Given the description of an element on the screen output the (x, y) to click on. 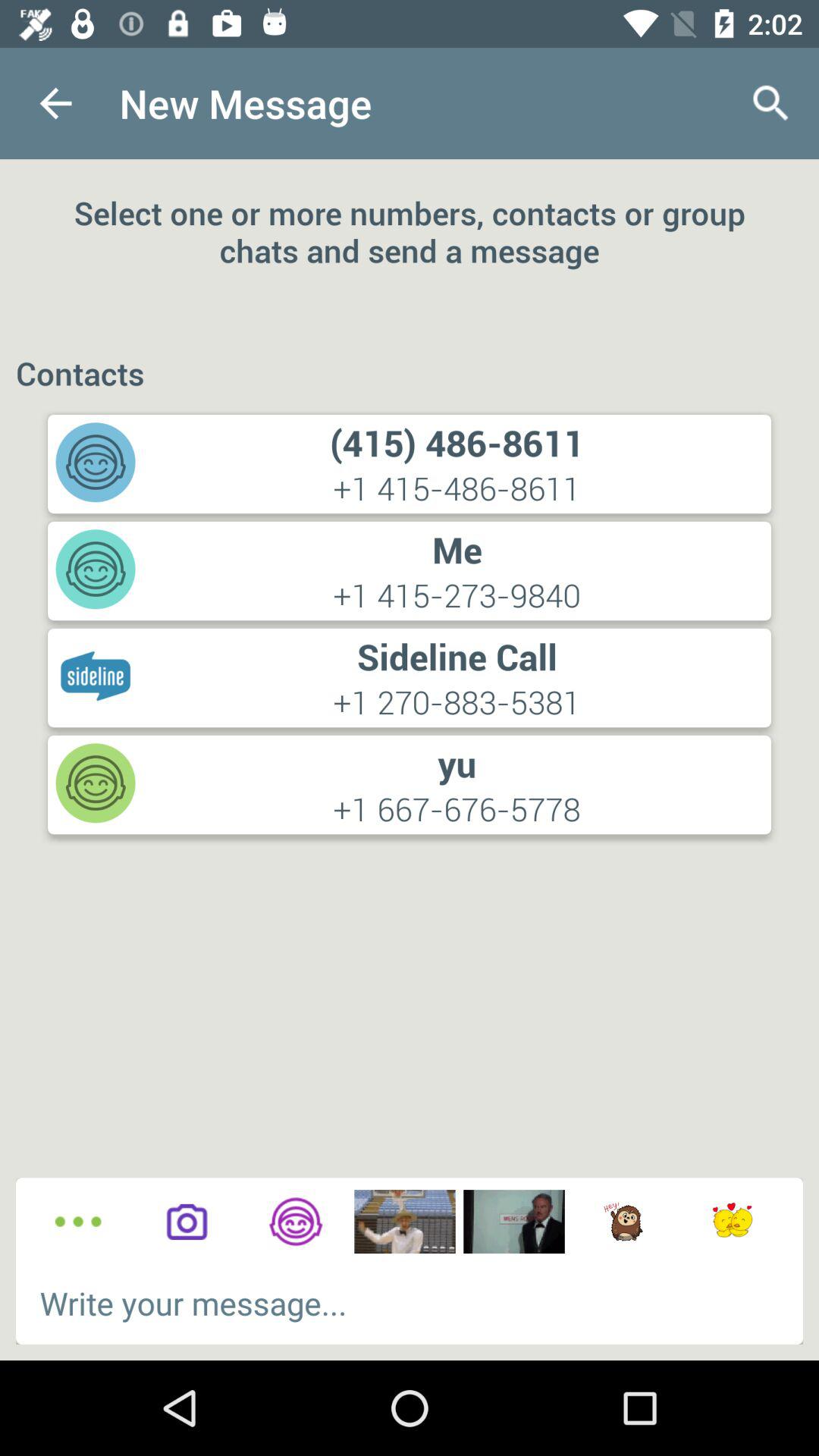
press item to the right of the new message item (771, 103)
